Given the description of an element on the screen output the (x, y) to click on. 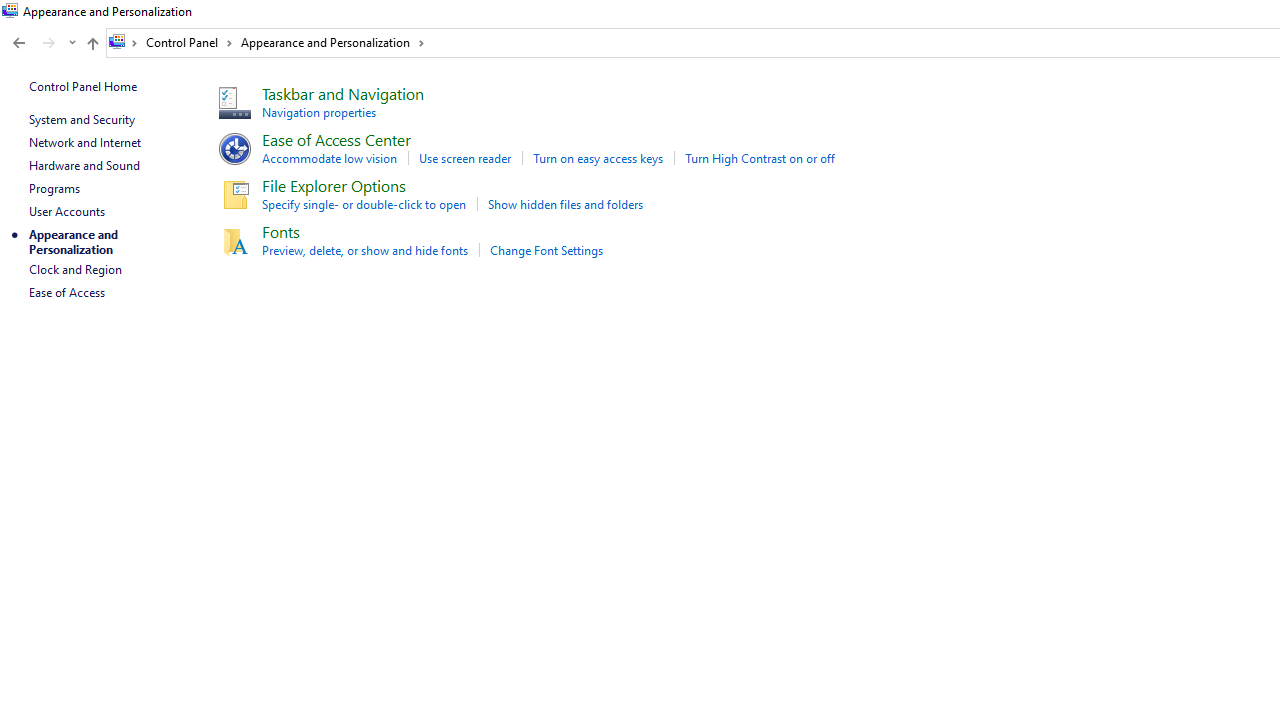
Icon (232, 240)
Forward (Alt + Right Arrow) (49, 43)
Use screen reader (465, 158)
